Given the description of an element on the screen output the (x, y) to click on. 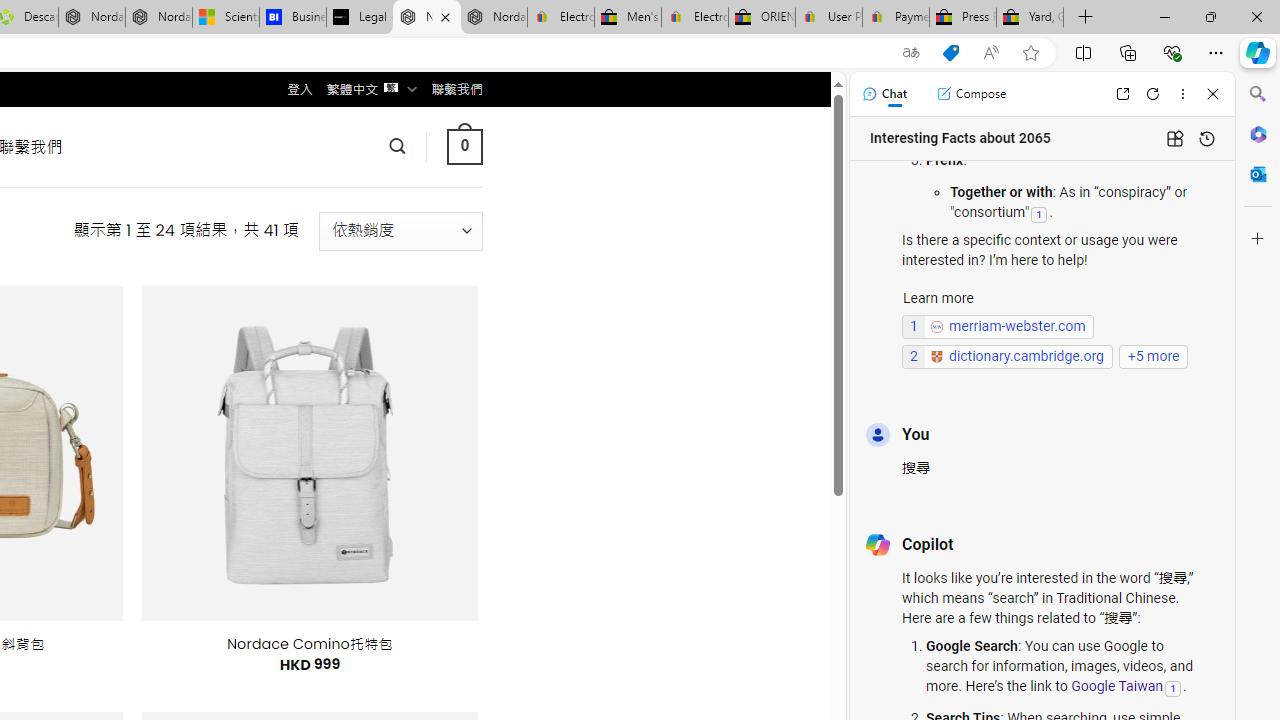
Yard, Garden & Outdoor Living (1030, 17)
Show translate options (910, 53)
  0   (464, 146)
Minimize Search pane (1258, 94)
